Given the description of an element on the screen output the (x, y) to click on. 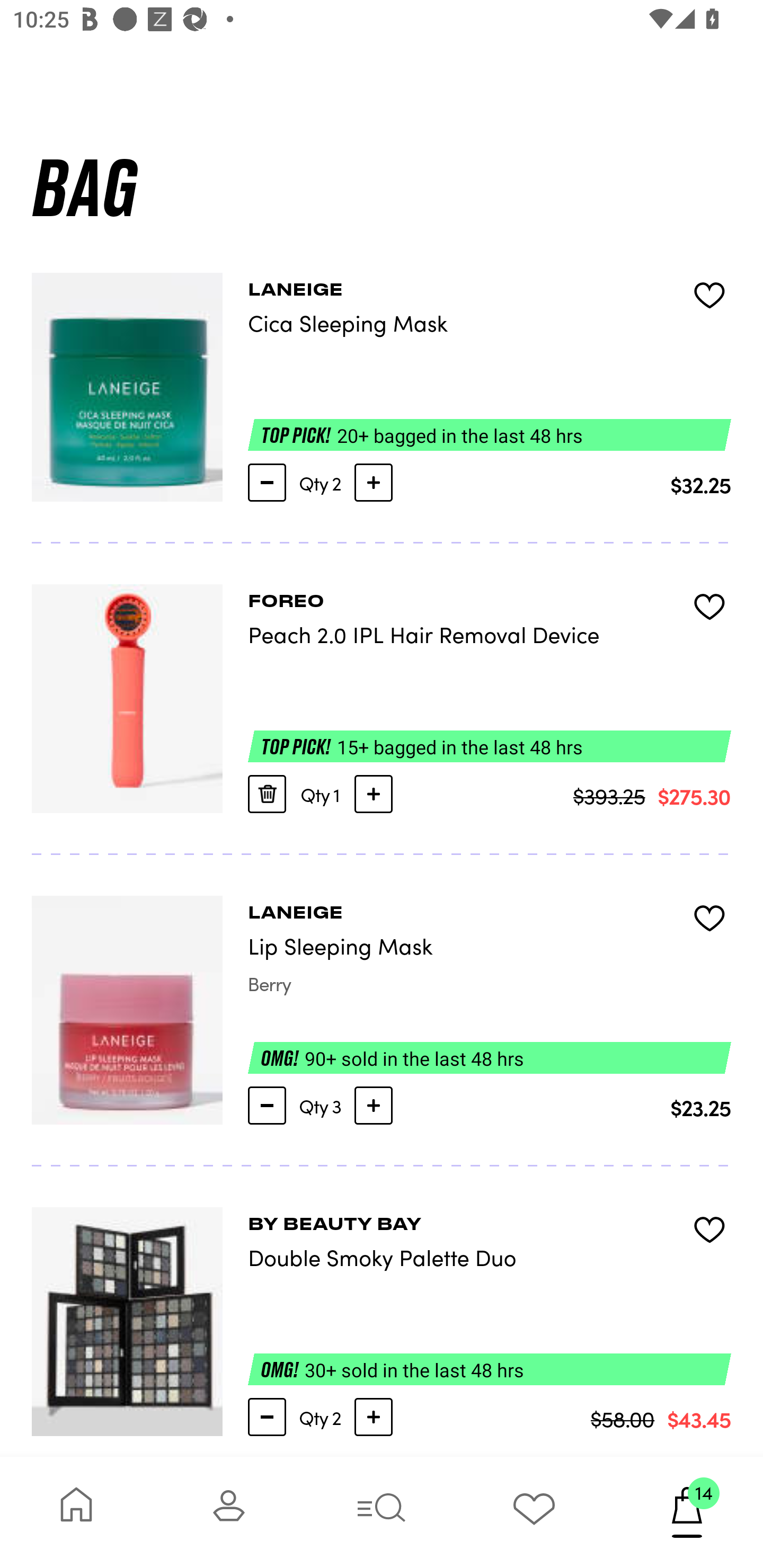
14 (686, 1512)
